Given the description of an element on the screen output the (x, y) to click on. 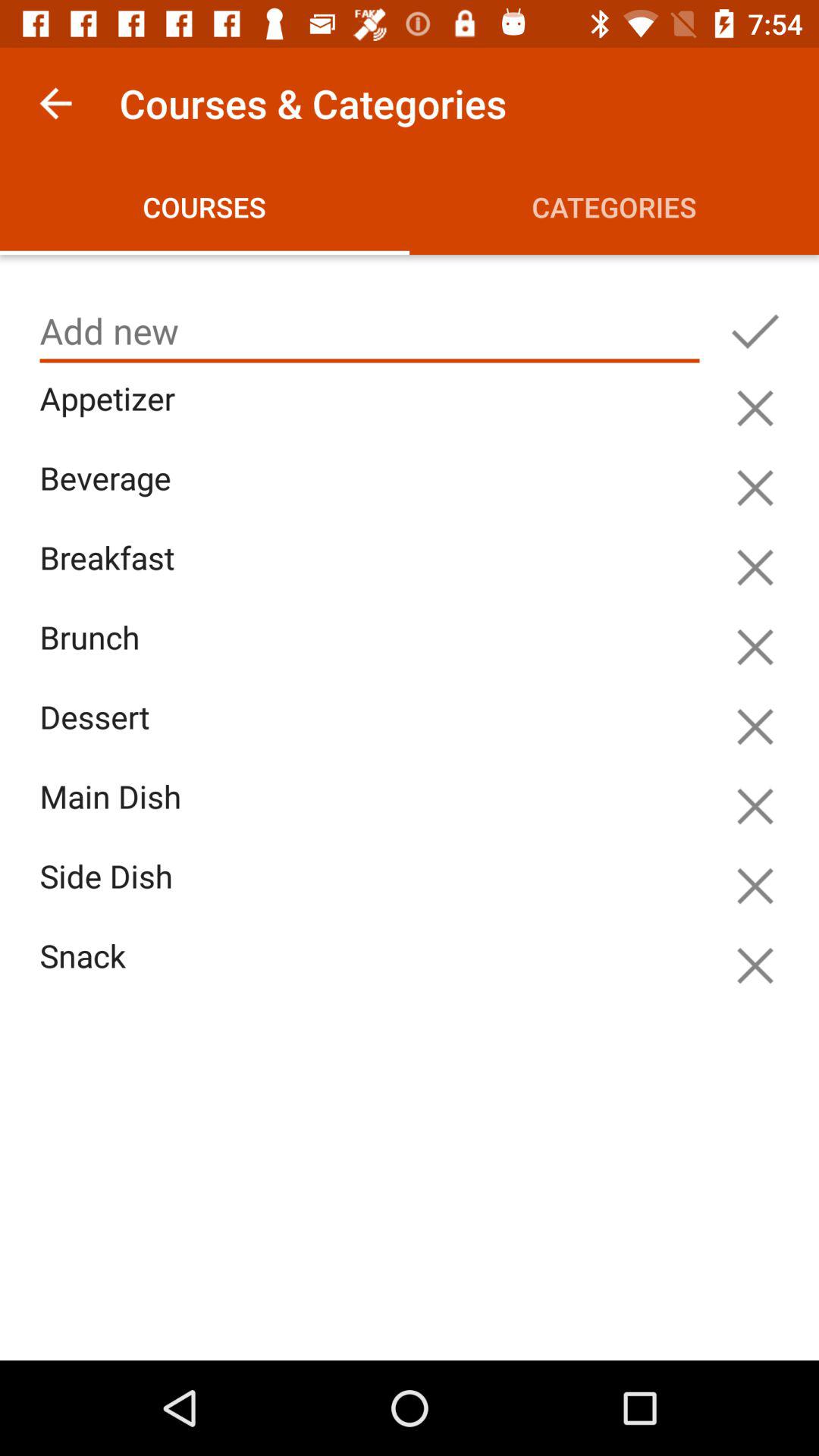
close this item (755, 408)
